Given the description of an element on the screen output the (x, y) to click on. 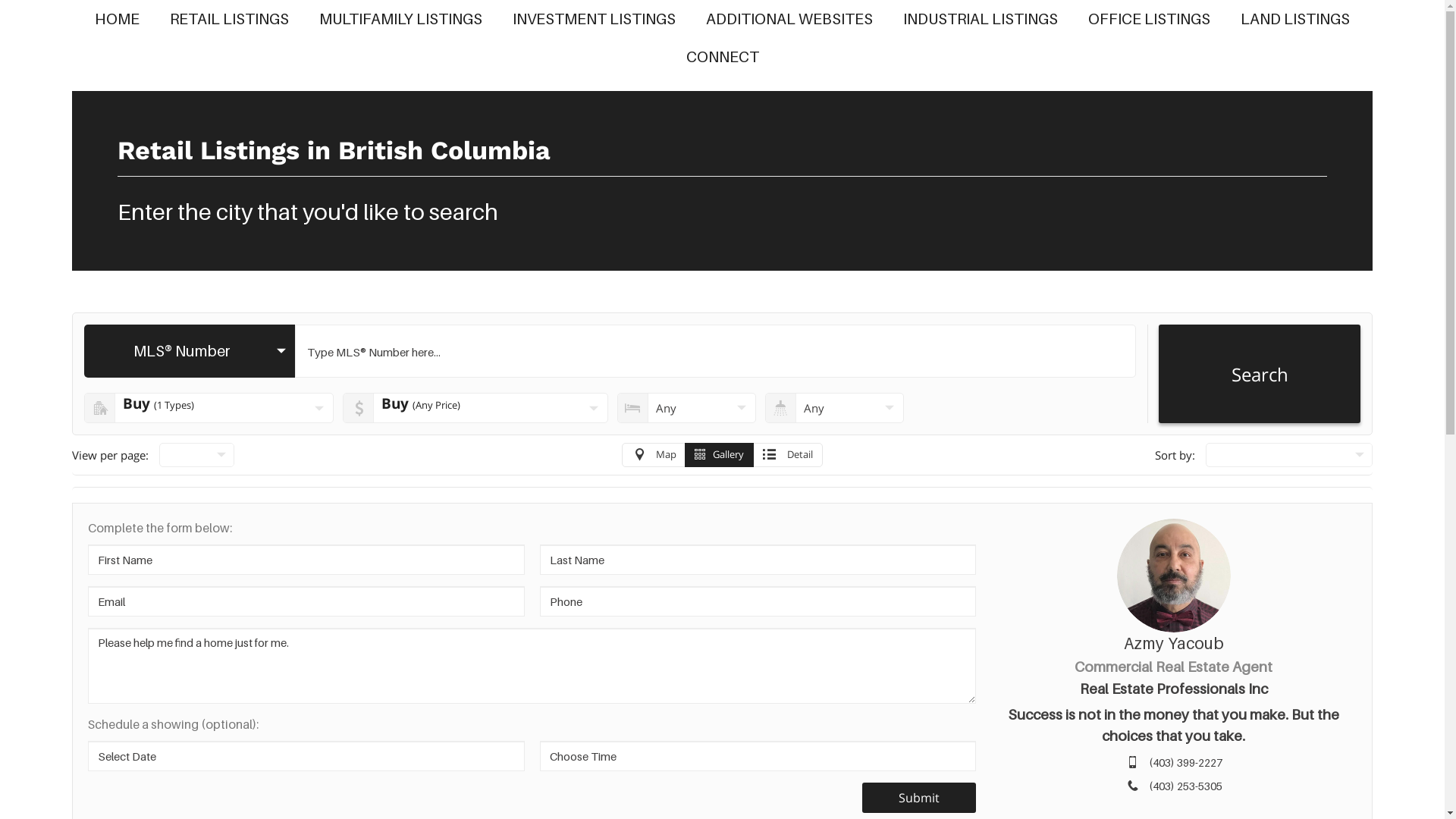
LAND LISTINGS Element type: text (1295, 18)
Any Element type: text (686, 407)
ADDITIONAL WEBSITES Element type: text (789, 18)
Gallery Element type: text (718, 454)
(403) 253-5305 Element type: text (1185, 785)
Map Element type: text (653, 454)
OFFICE LISTINGS Element type: text (1149, 18)
CONNECT Element type: text (721, 56)
INDUSTRIAL LISTINGS Element type: text (980, 18)
Search Element type: text (1258, 373)
MULTIFAMILY LISTINGS Element type: text (400, 18)
HOME Element type: text (116, 18)
  Element type: text (1288, 454)
  Element type: text (196, 454)
Submit Element type: text (918, 797)
Any Element type: text (834, 407)
(403) 399-2227 Element type: text (1185, 762)
INVESTMENT LISTINGS Element type: text (593, 18)
Detail Element type: text (787, 454)
RETAIL LISTINGS Element type: text (229, 18)
